Given the description of an element on the screen output the (x, y) to click on. 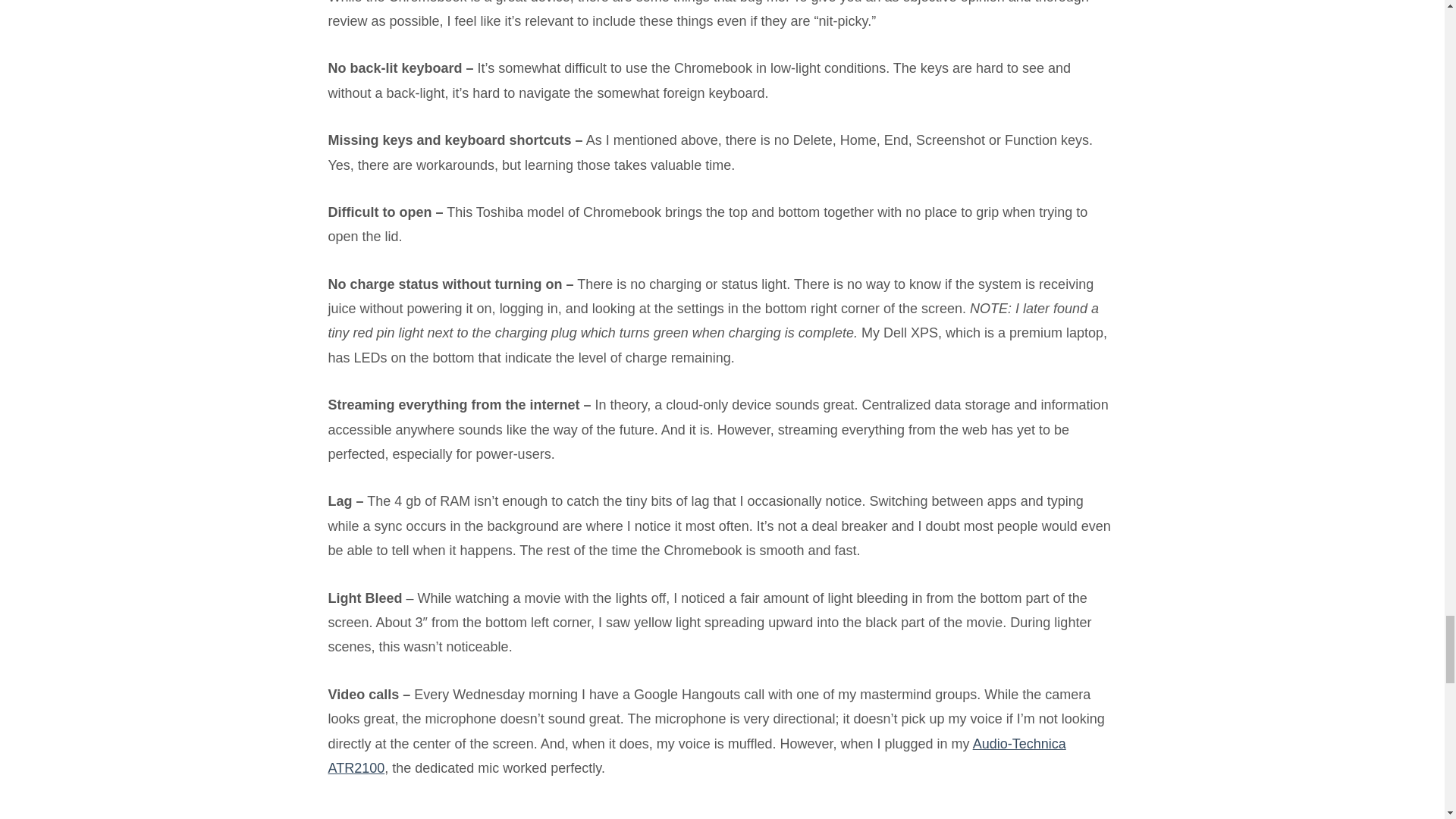
Audio-Technica ATR2100 (696, 755)
